Given the description of an element on the screen output the (x, y) to click on. 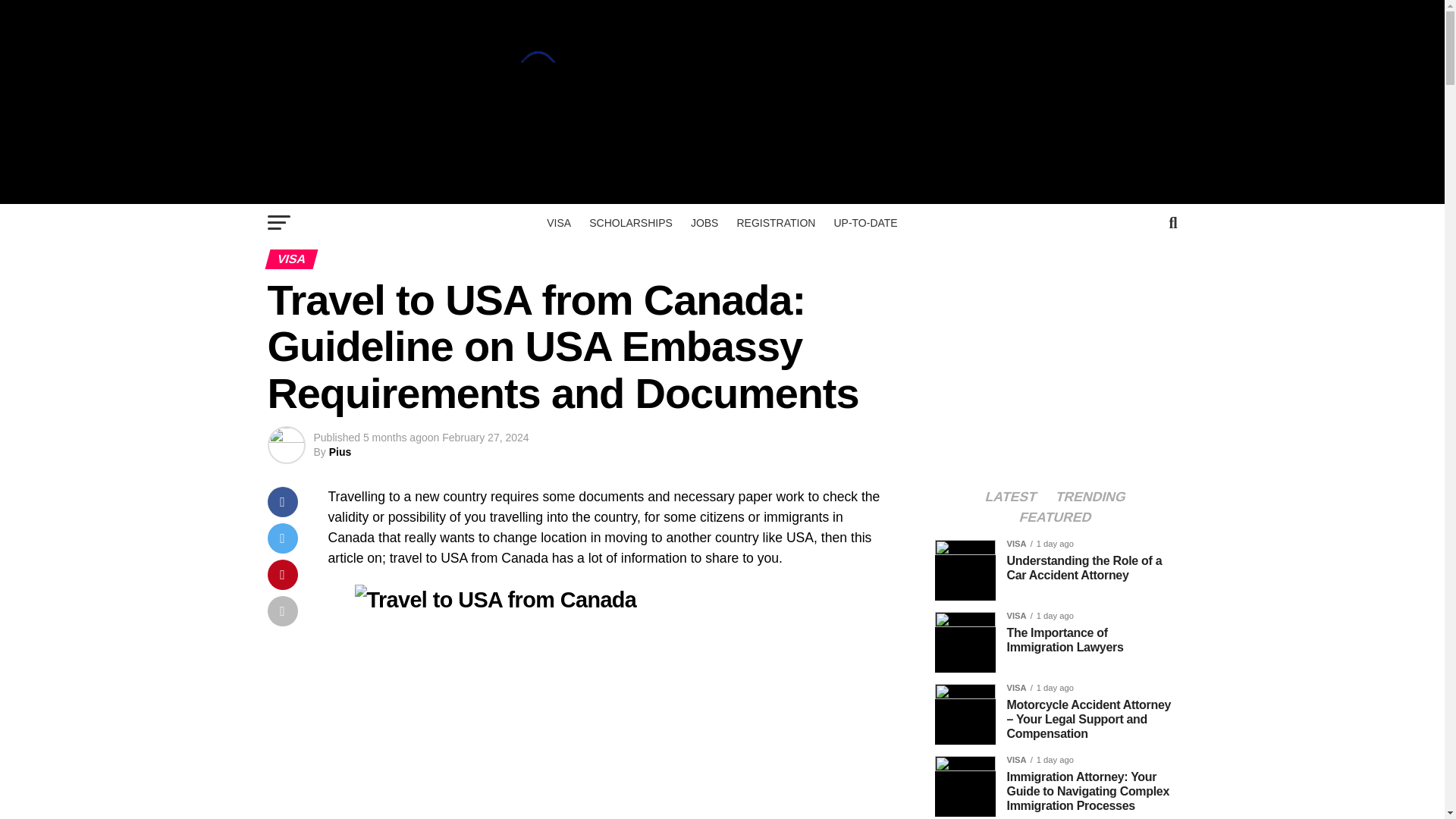
Posts by Pius (340, 451)
UP-TO-DATE (864, 222)
JOBS (704, 222)
REGISTRATION (775, 222)
SCHOLARSHIPS (630, 222)
VISA (558, 222)
